Given the description of an element on the screen output the (x, y) to click on. 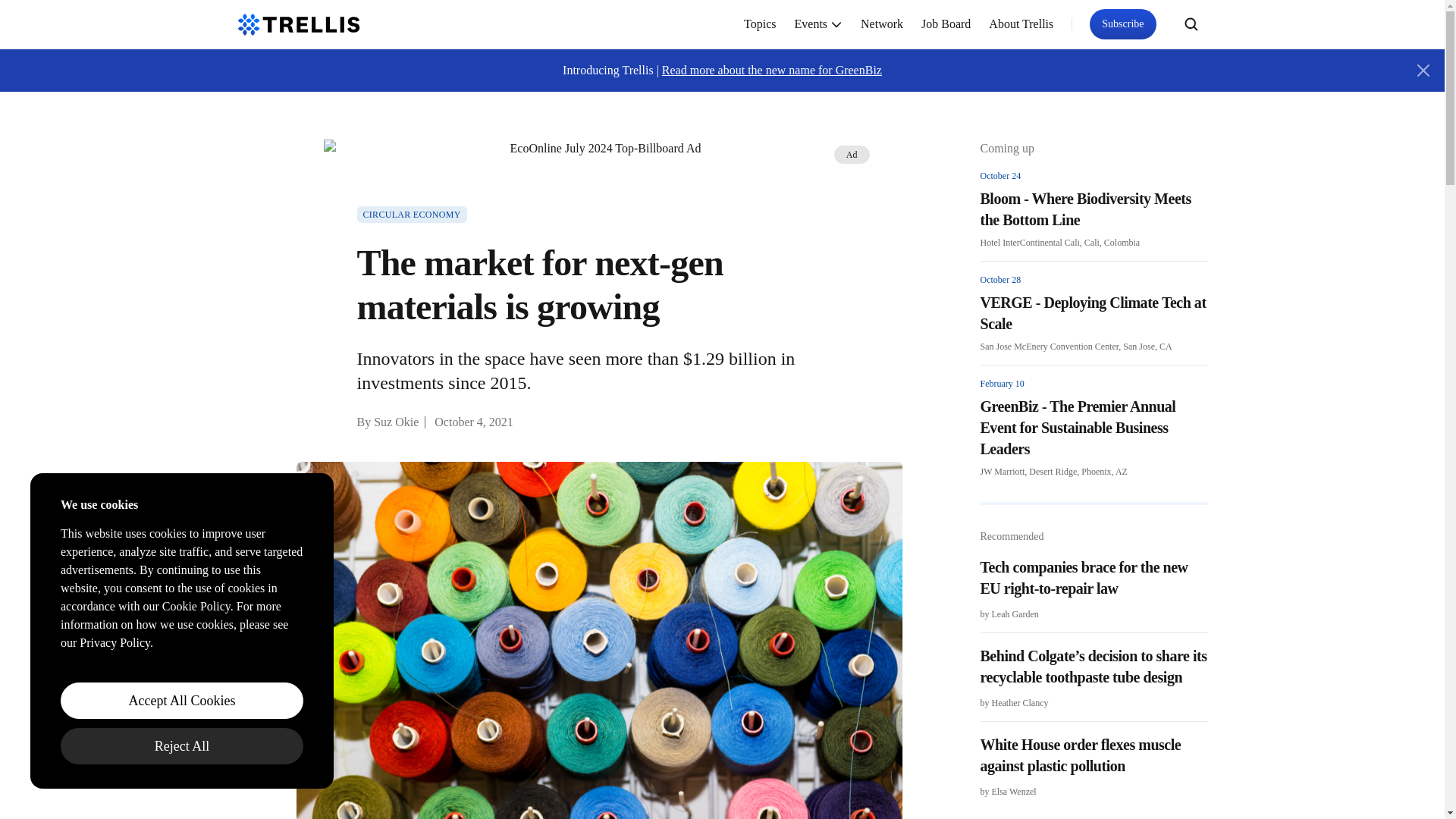
CIRCULAR ECONOMY (410, 214)
Read more about the new name for GreenBiz (772, 70)
EcoOnline July 2024 Top-Billboard Ad (599, 148)
Network (881, 24)
By Suz Okie (387, 421)
About Trellis (1020, 24)
Topics (759, 24)
Job Board (945, 24)
Events (818, 24)
Subscribe (1122, 24)
